Given the description of an element on the screen output the (x, y) to click on. 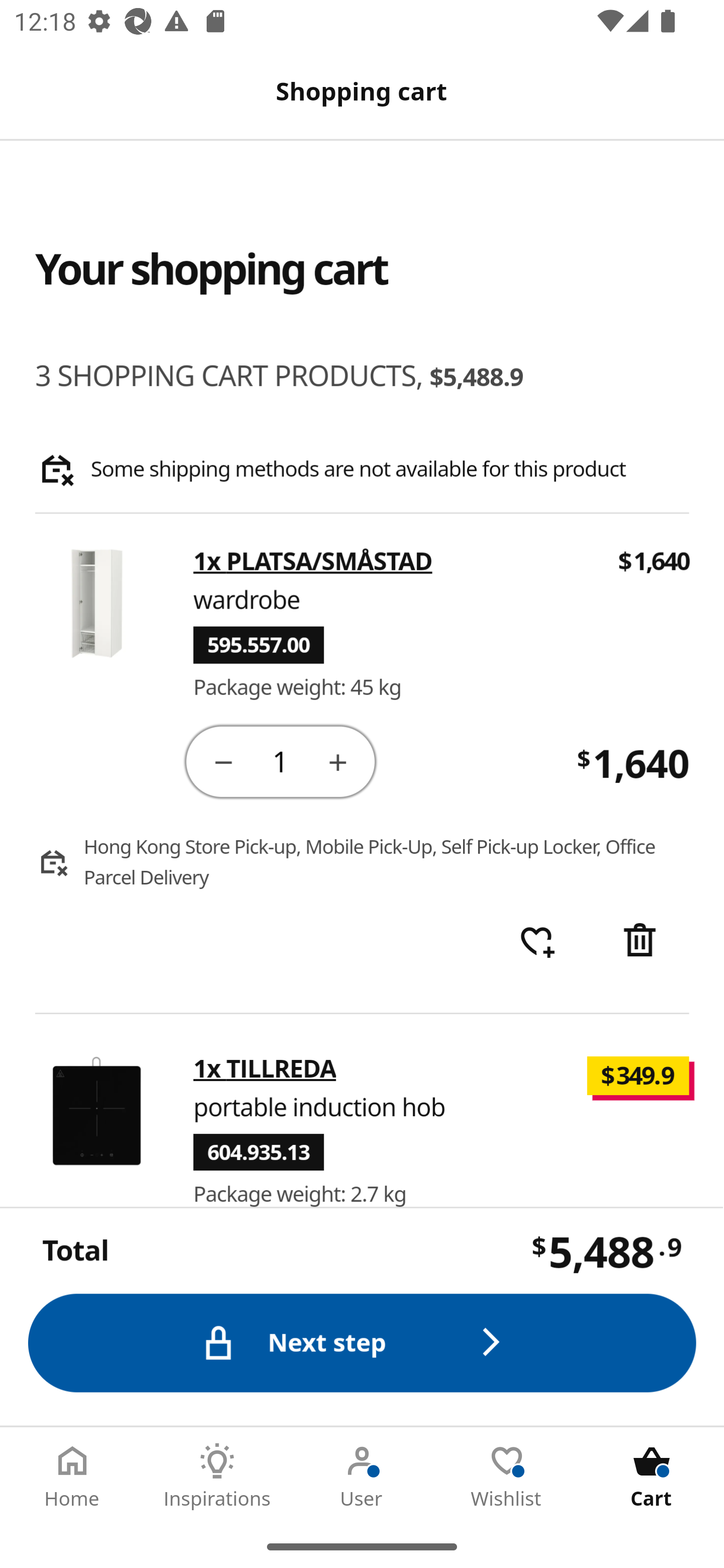
1x  PLATSA/SMÅSTAD 1x  PLATSA/SMÅSTAD (313, 561)
1 (281, 760)
 (223, 761)
 (338, 761)
  (536, 942)
 (641, 942)
1x  TILLREDA 1x  TILLREDA (265, 1068)
Home
Tab 1 of 5 (72, 1476)
Inspirations
Tab 2 of 5 (216, 1476)
User
Tab 3 of 5 (361, 1476)
Wishlist
Tab 4 of 5 (506, 1476)
Cart
Tab 5 of 5 (651, 1476)
